Given the description of an element on the screen output the (x, y) to click on. 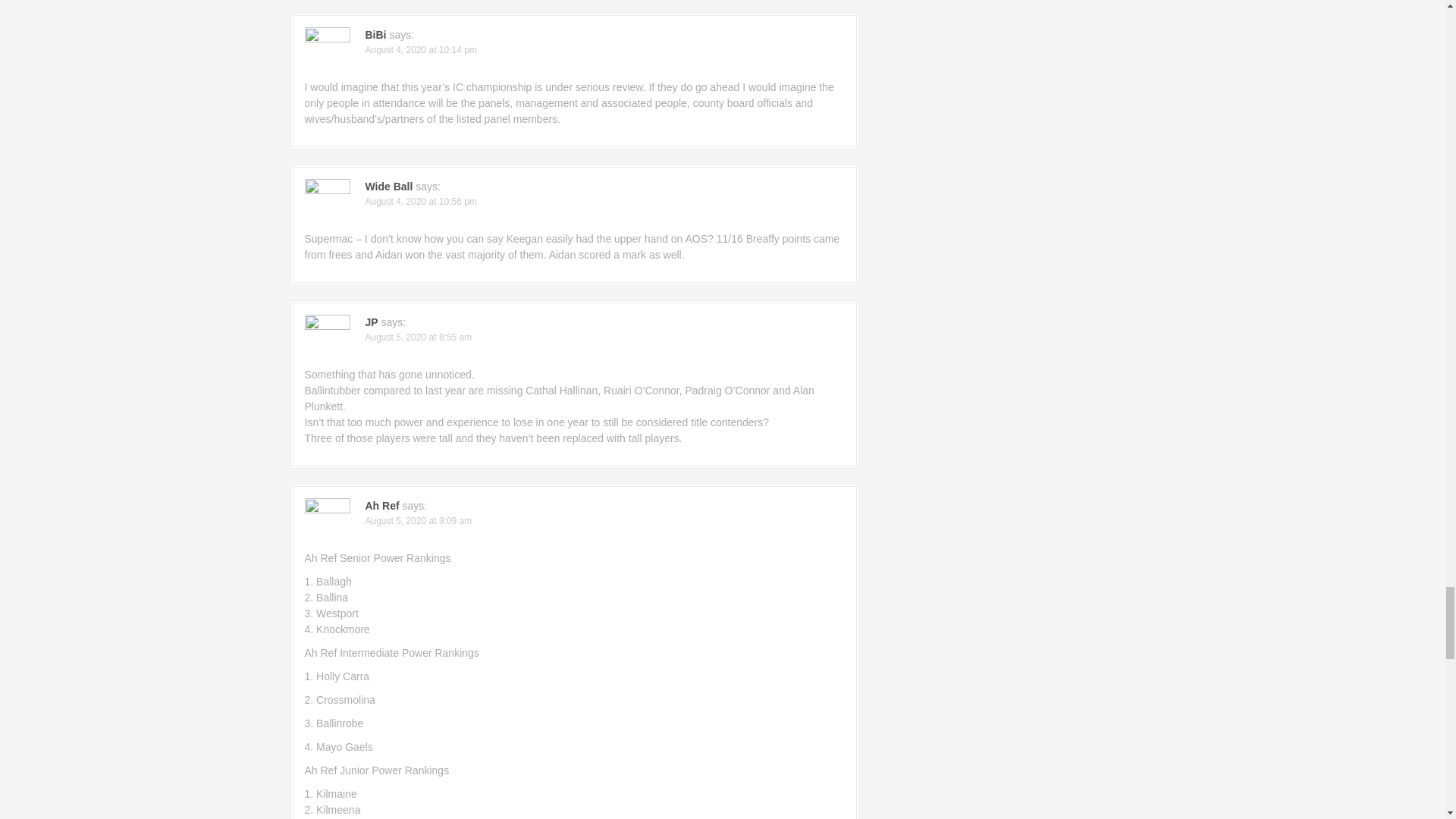
August 4, 2020 at 10:56 pm (421, 201)
August 5, 2020 at 8:55 am (418, 337)
August 4, 2020 at 10:14 pm (421, 50)
August 5, 2020 at 9:09 am (418, 520)
